Given the description of an element on the screen output the (x, y) to click on. 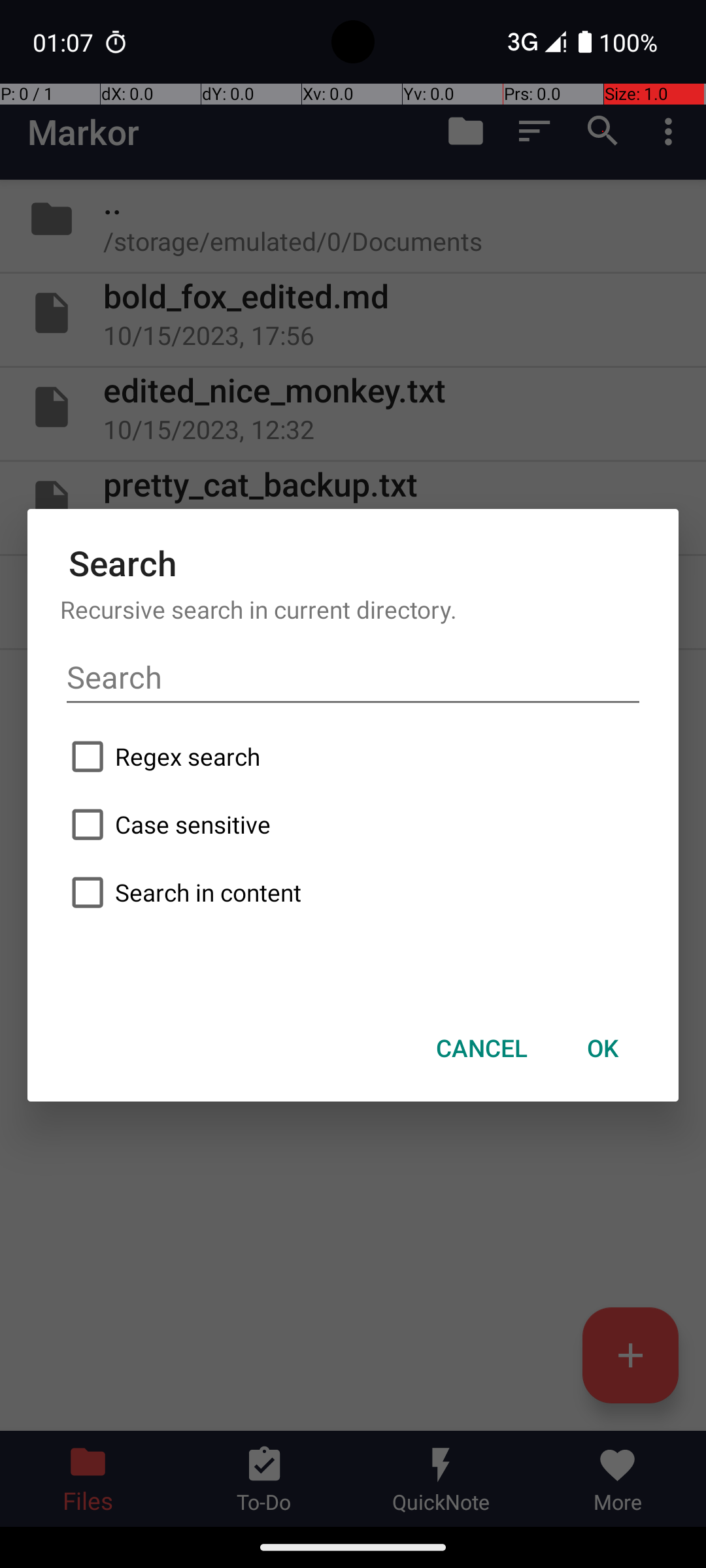
Recursive search in current directory. Element type: android.widget.TextView (352, 608)
Regex search Element type: android.widget.CheckBox (352, 756)
Case sensitive Element type: android.widget.CheckBox (352, 824)
Search in content Element type: android.widget.CheckBox (352, 892)
01:07 Element type: android.widget.TextView (64, 41)
